Given the description of an element on the screen output the (x, y) to click on. 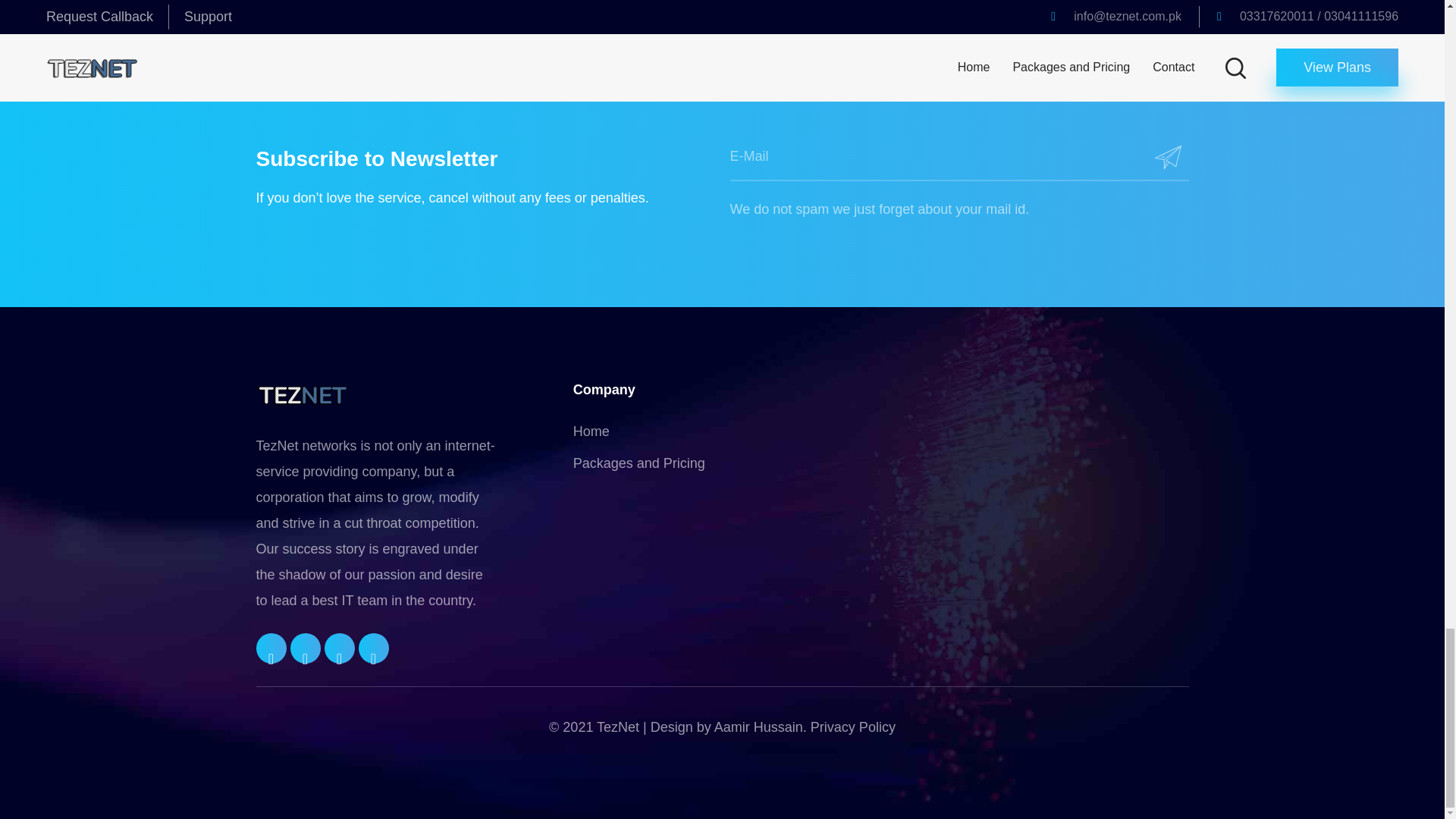
Packages and Pricing (638, 462)
Home (591, 431)
